Given the description of an element on the screen output the (x, y) to click on. 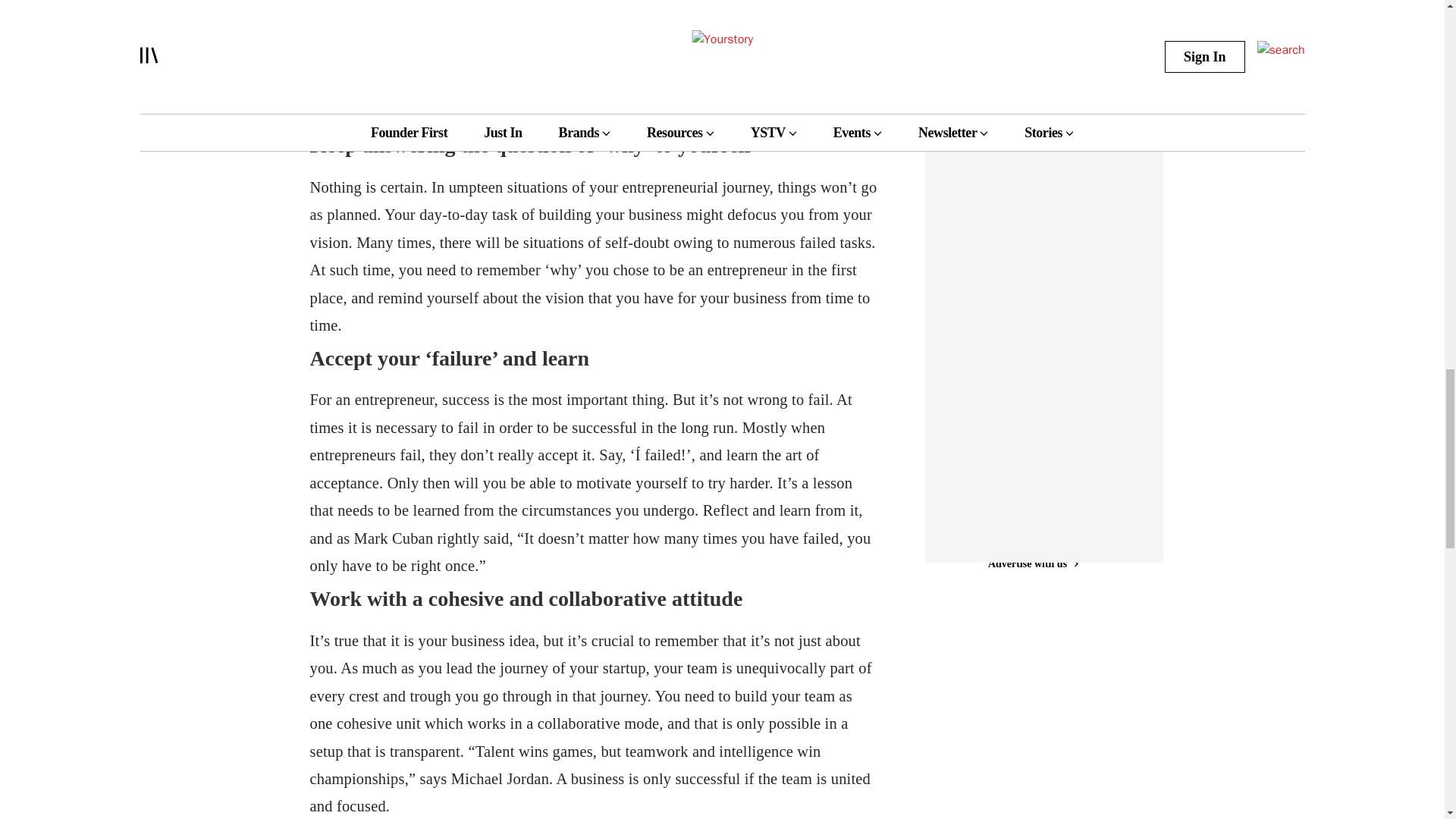
Advertise with us (1032, 556)
Advertise with us (1032, 69)
